Given the description of an element on the screen output the (x, y) to click on. 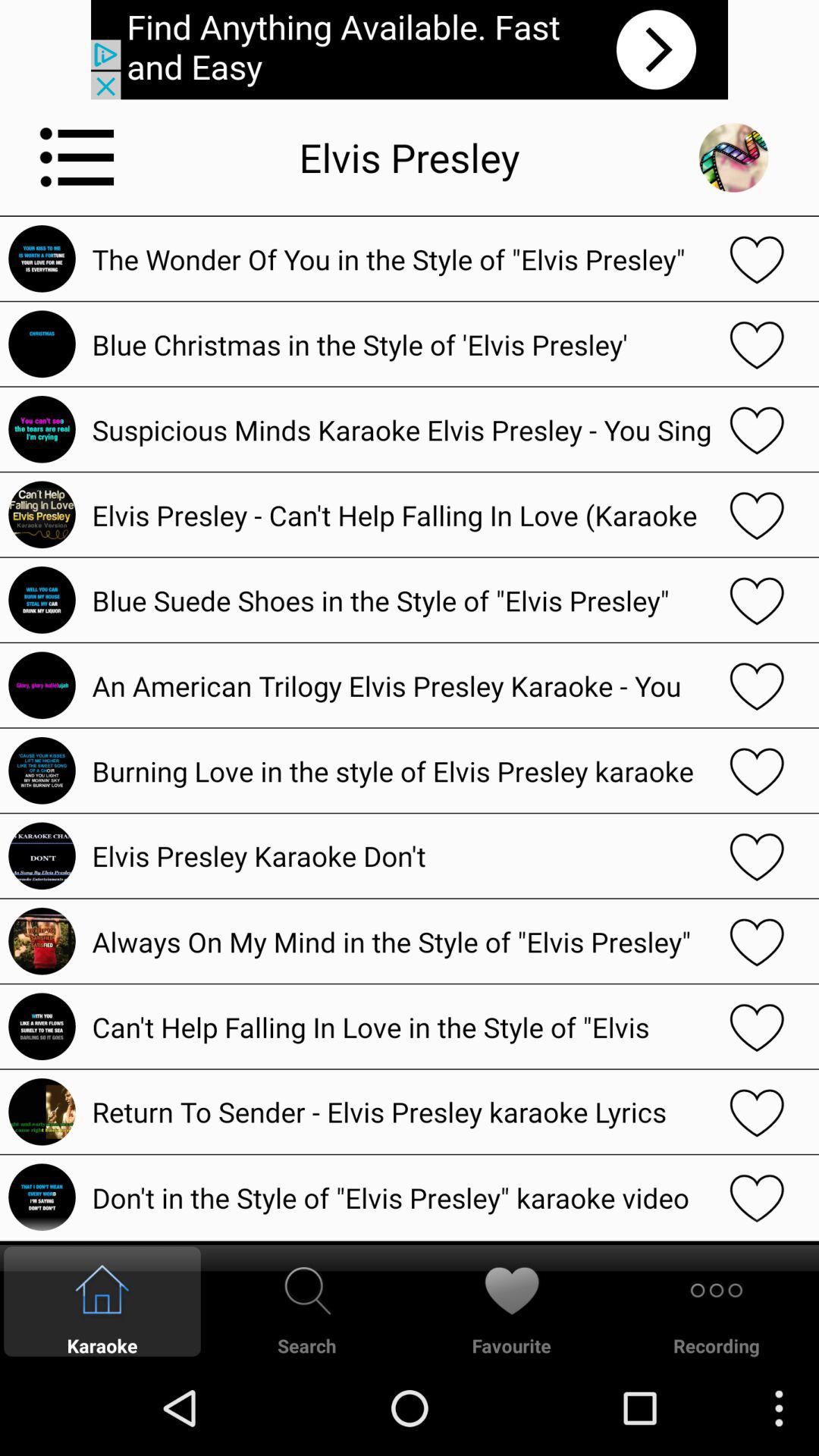
select the option (756, 599)
